Given the description of an element on the screen output the (x, y) to click on. 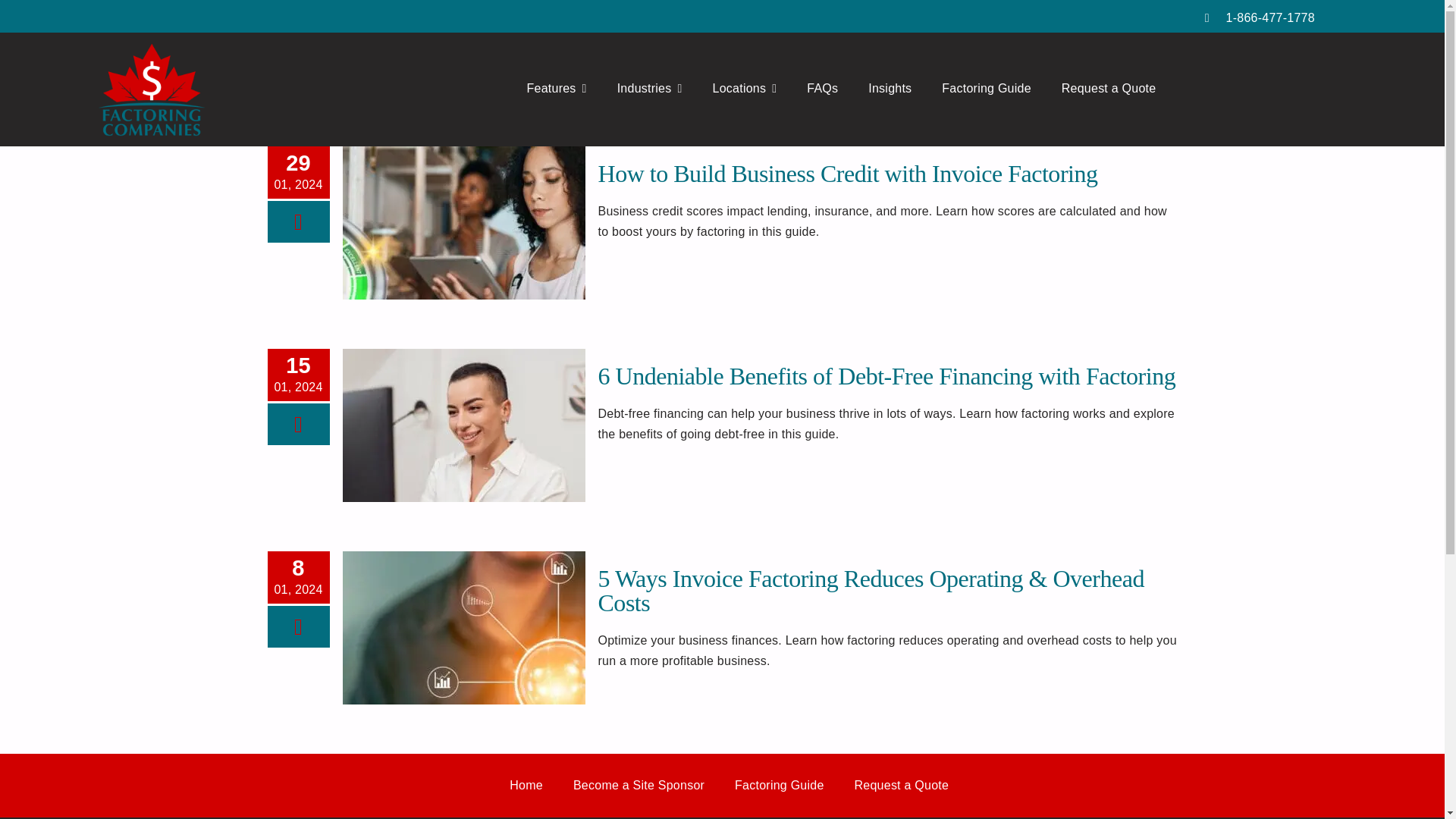
1-866-477-1778 (1269, 17)
Features (556, 88)
Industries (649, 88)
